Given the description of an element on the screen output the (x, y) to click on. 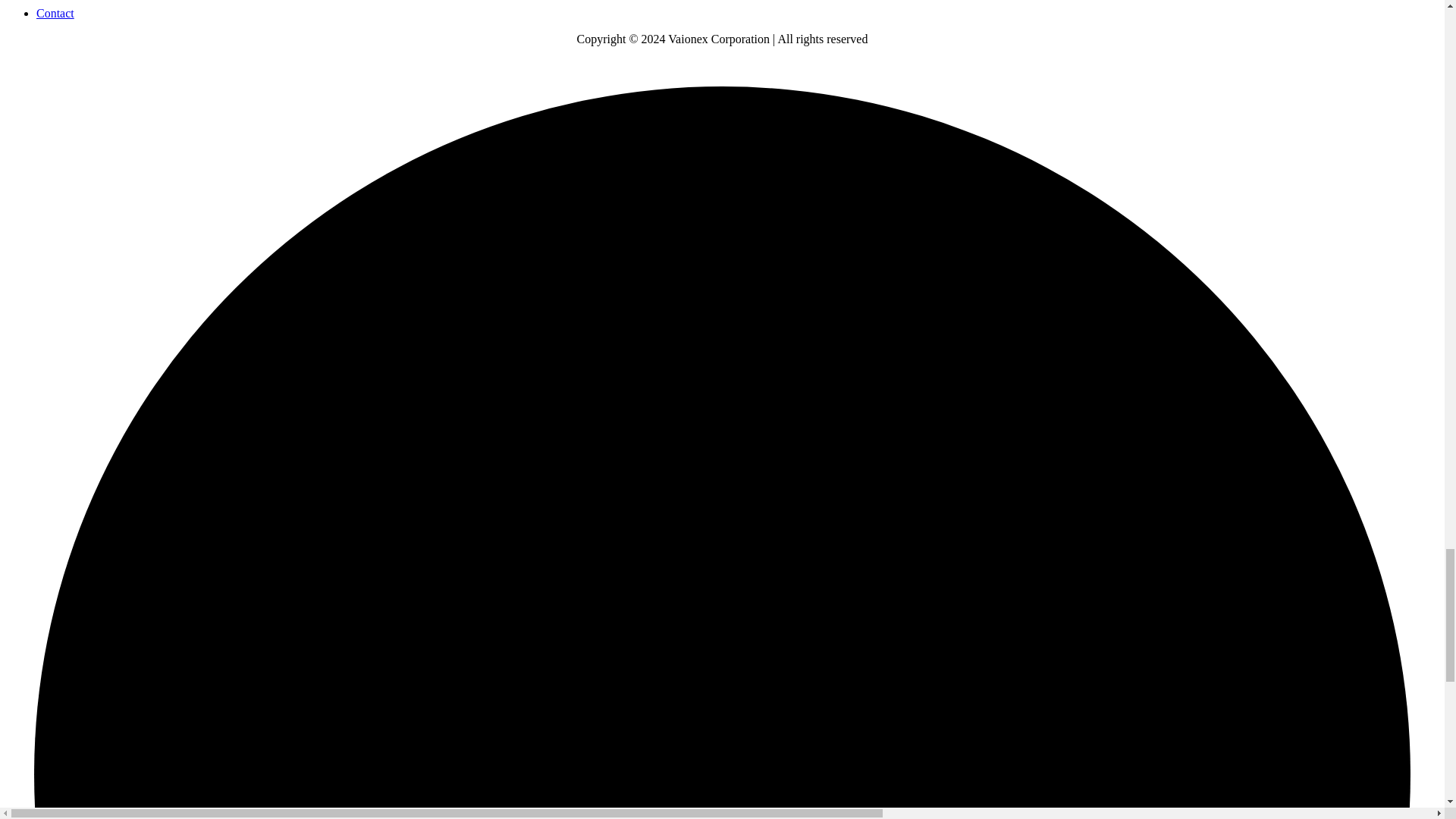
Contact (55, 12)
